Given the description of an element on the screen output the (x, y) to click on. 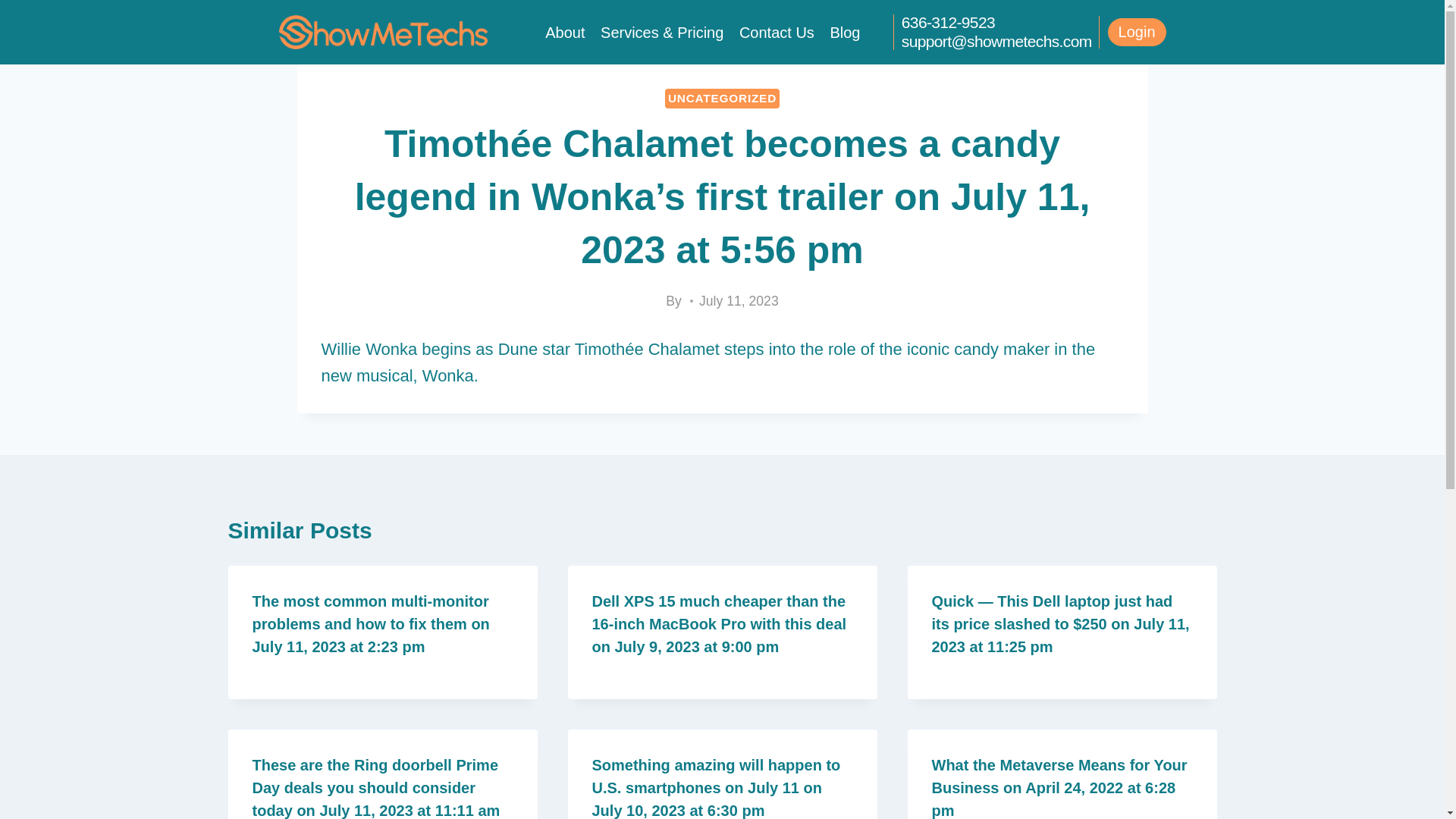
UNCATEGORIZED (721, 98)
636-312-9523 (947, 22)
Login (1137, 31)
